Given the description of an element on the screen output the (x, y) to click on. 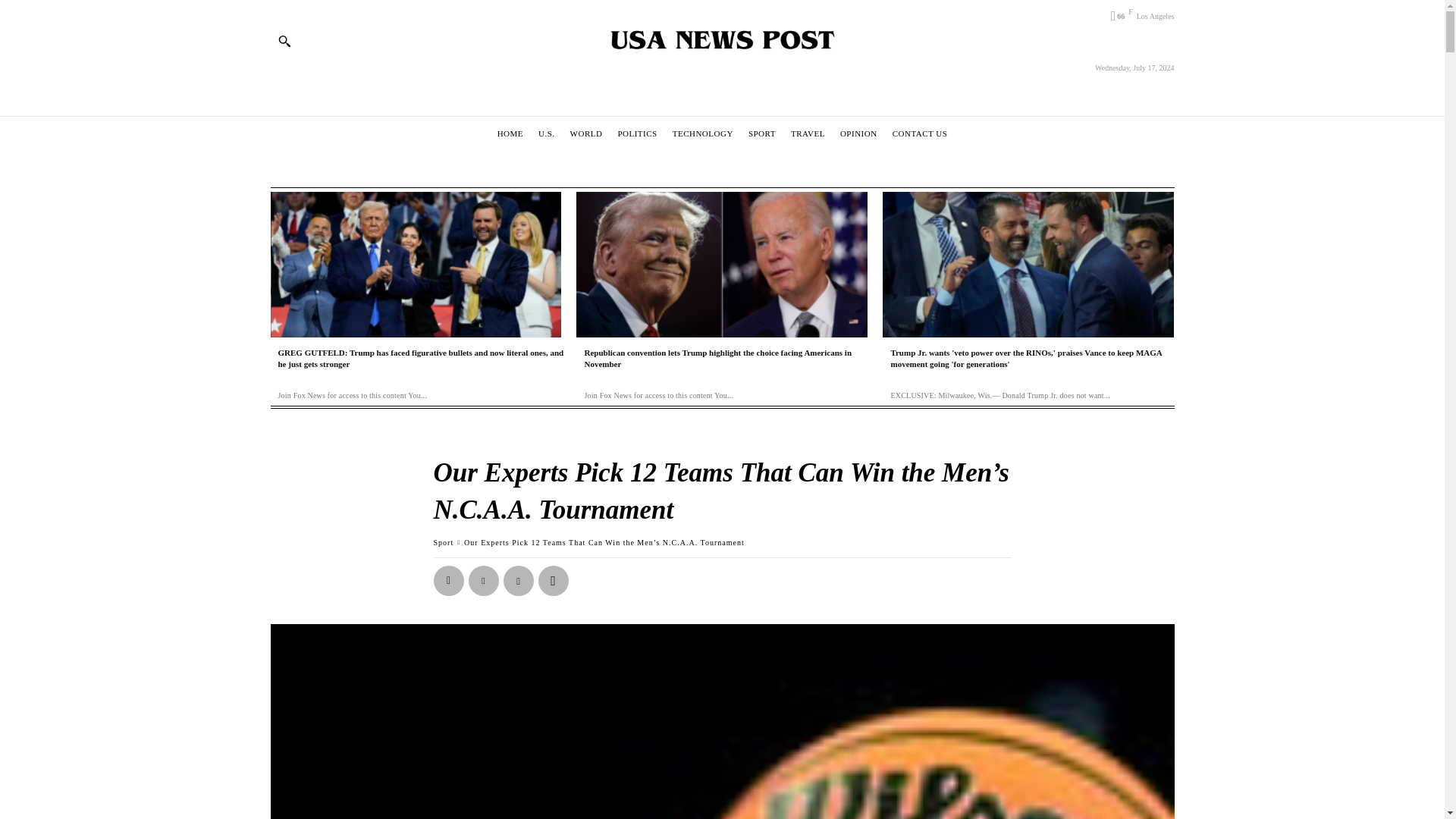
TRAVEL (807, 133)
Twitter (483, 580)
WORLD (586, 133)
Facebook (448, 580)
POLITICS (636, 133)
SPORT (761, 133)
HOME (510, 133)
TECHNOLOGY (702, 133)
View all posts in Sport (443, 542)
CONTACT US (920, 133)
